Given the description of an element on the screen output the (x, y) to click on. 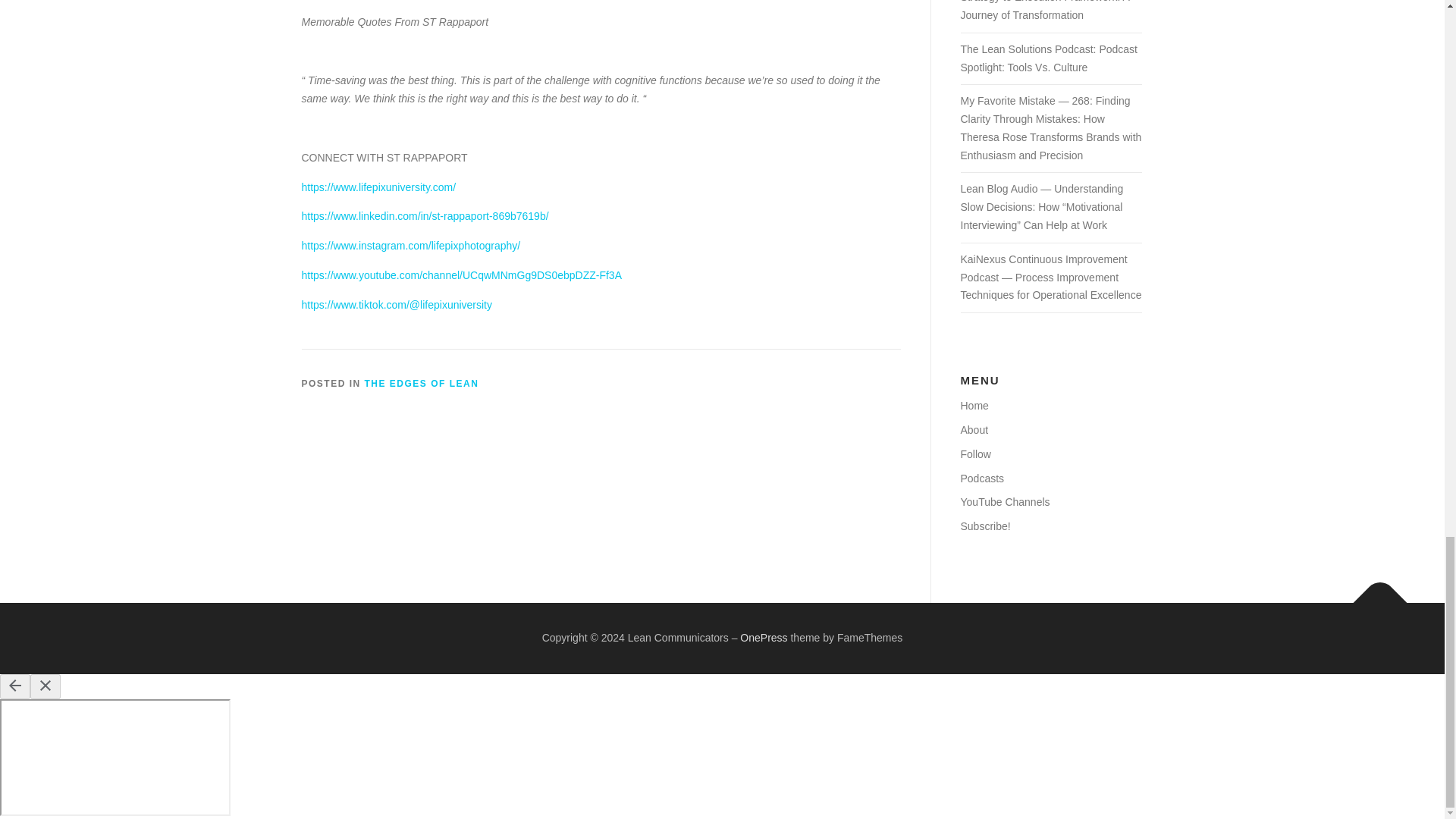
THE EDGES OF LEAN (422, 383)
Back To Top (1372, 595)
